Given the description of an element on the screen output the (x, y) to click on. 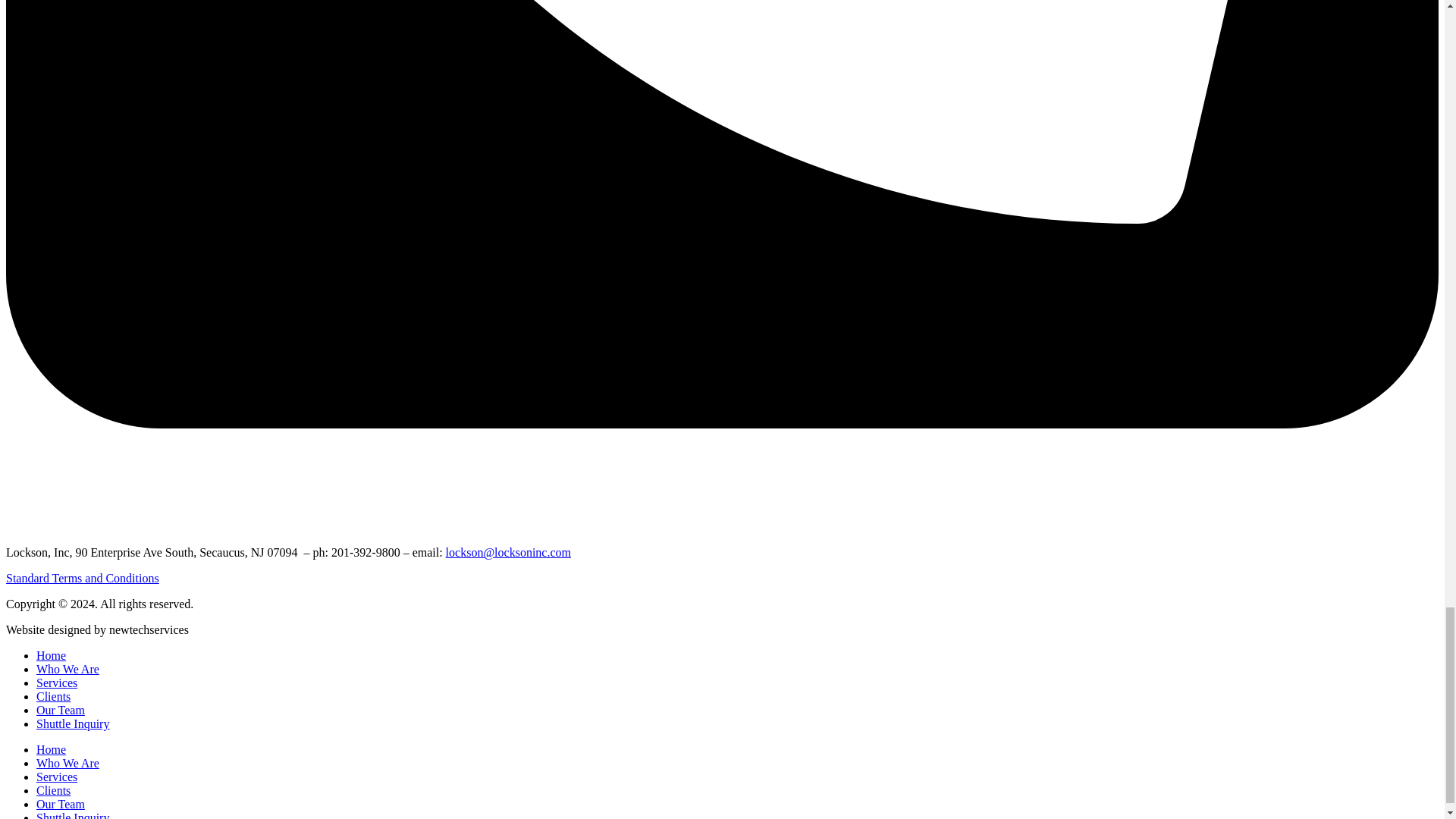
Standard Terms and Conditions (81, 577)
Our Team (60, 709)
Clients (52, 696)
Shuttle Inquiry (72, 723)
Clients (52, 789)
Home (50, 655)
Our Team (60, 803)
Who We Are (67, 762)
Home (50, 748)
Services (56, 776)
Who We Are (67, 668)
Services (56, 682)
